Given the description of an element on the screen output the (x, y) to click on. 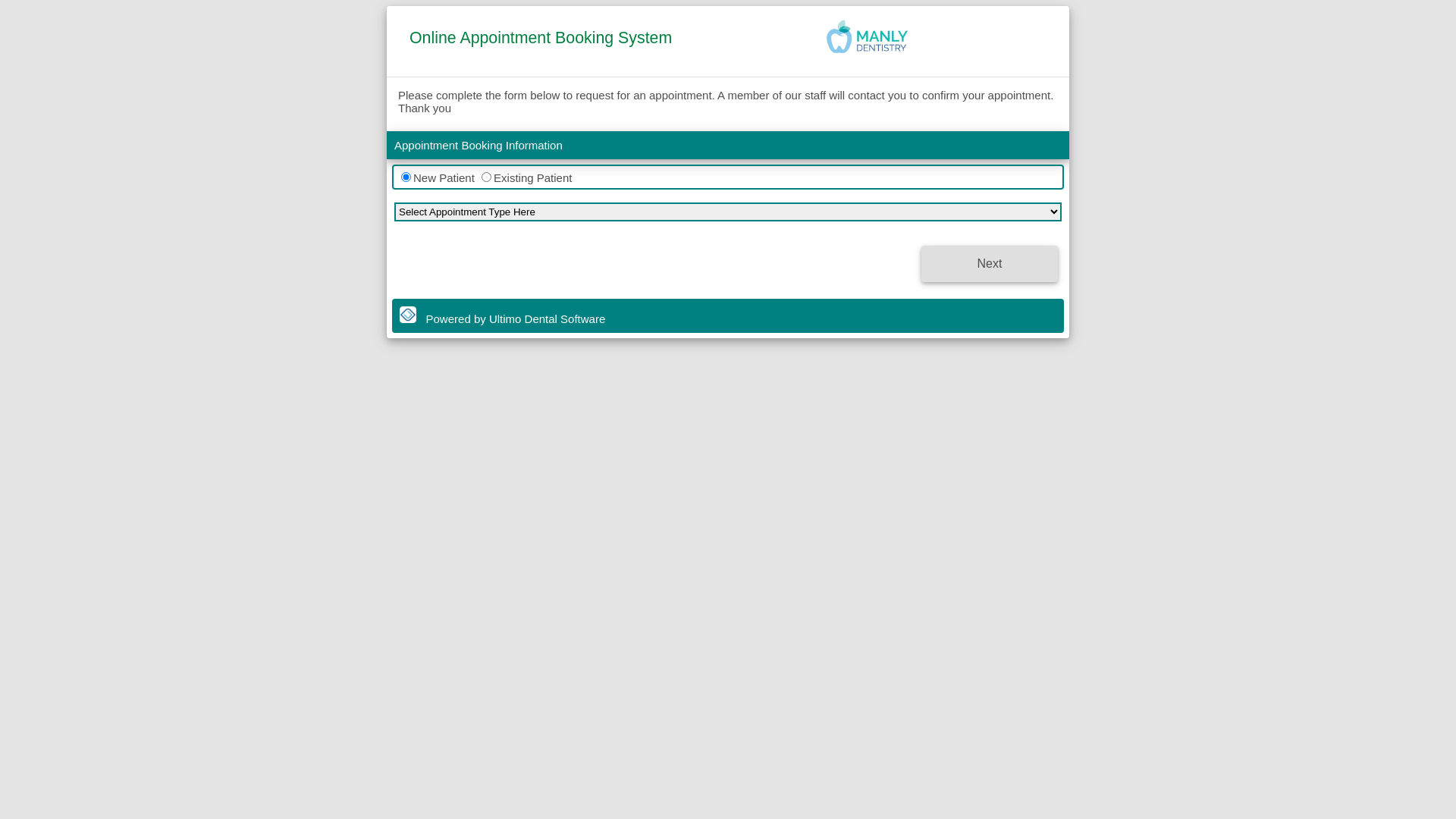
Next Element type: text (989, 263)
Powered by Ultimo Dental Software Element type: text (515, 318)
radioPatExist Element type: text (486, 177)
